Given the description of an element on the screen output the (x, y) to click on. 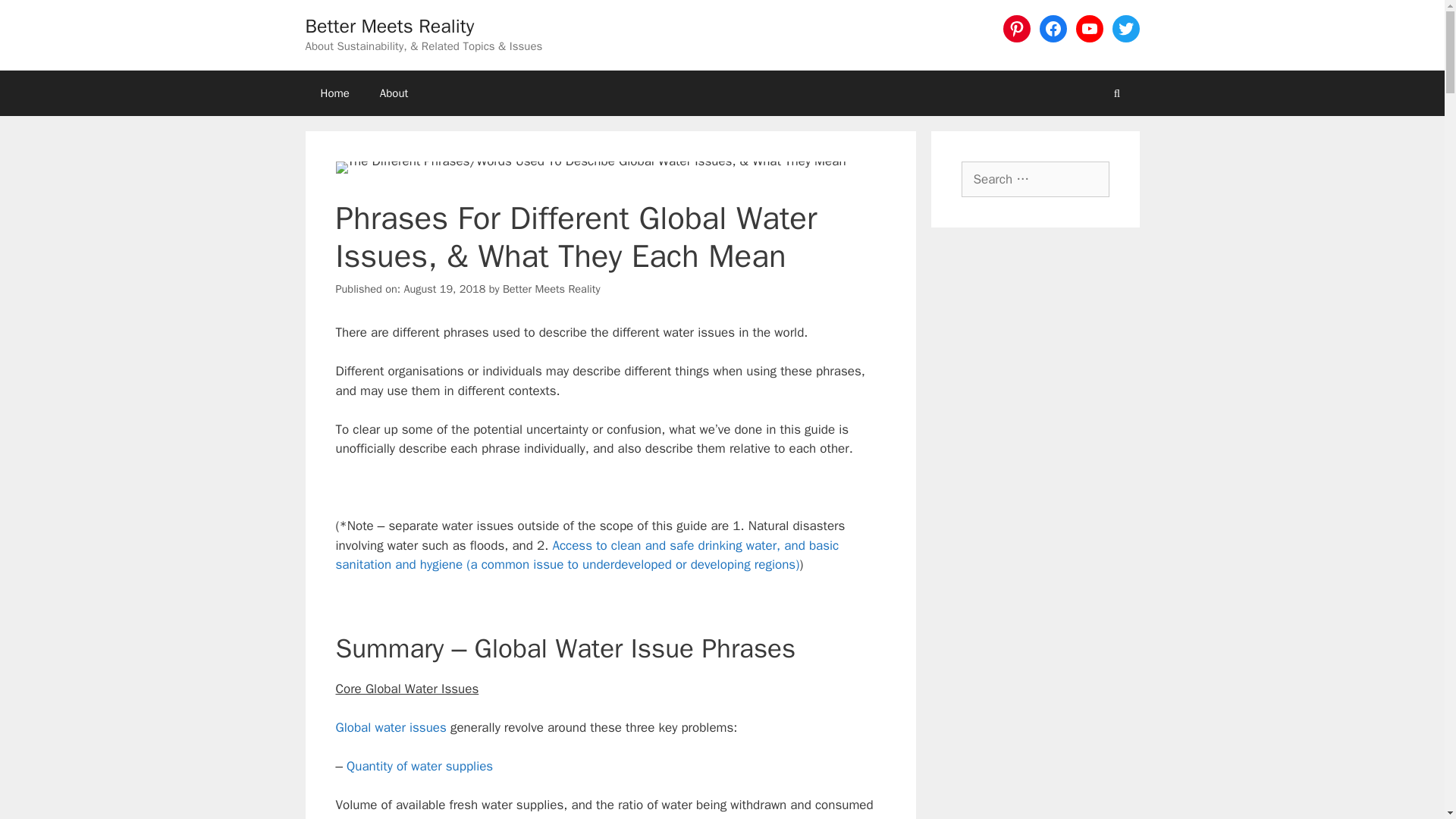
Search for: (1034, 178)
Pinterest (1016, 28)
View all posts by Better Meets Reality (550, 288)
Better Meets Reality (389, 25)
Home (334, 92)
Facebook (1052, 28)
About (394, 92)
Quantity of water supplies (419, 765)
Global water issues (389, 727)
Better Meets Reality (550, 288)
